Given the description of an element on the screen output the (x, y) to click on. 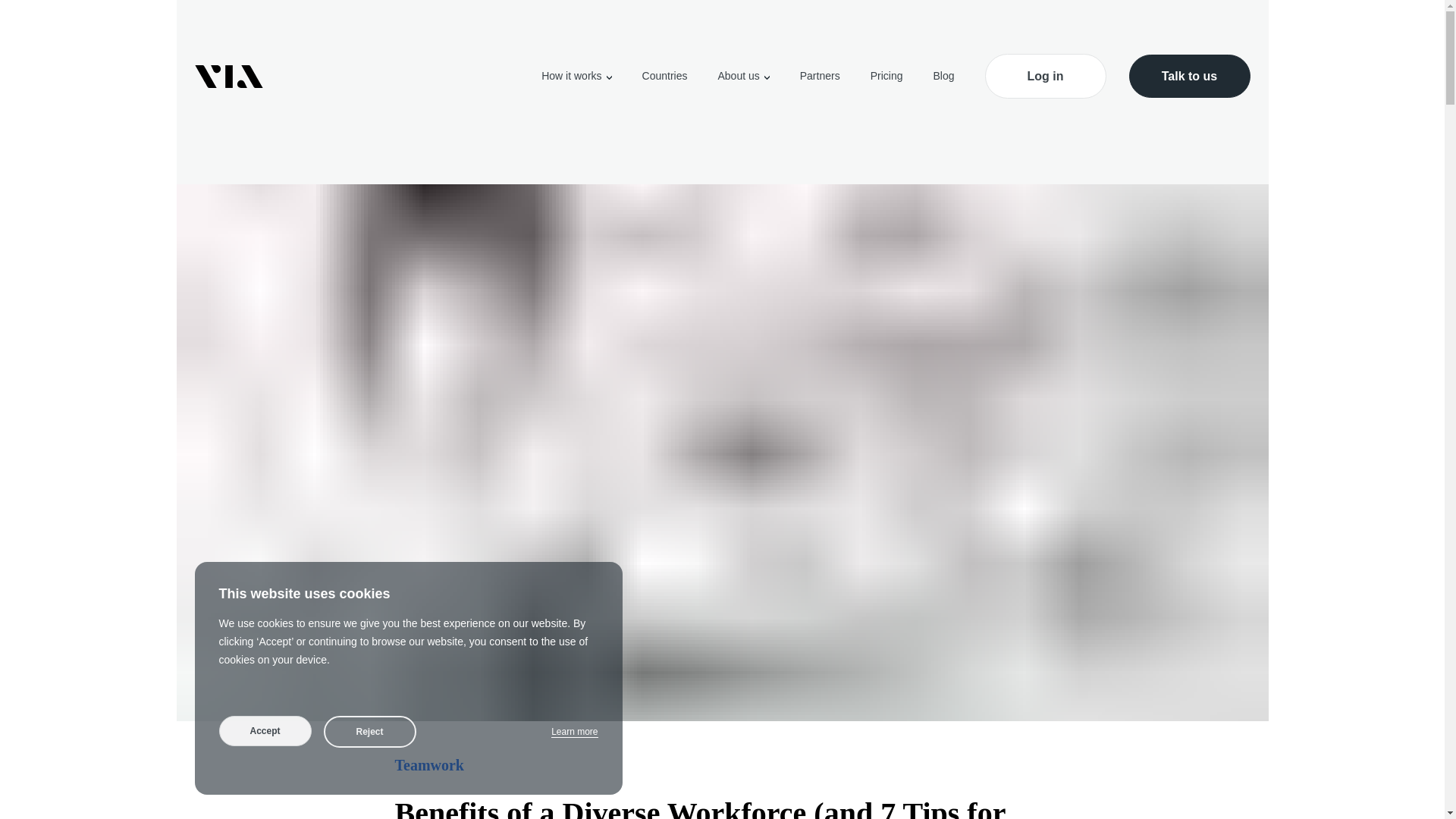
Pricing (886, 75)
Blog (943, 75)
Log in (1044, 76)
Reject (368, 731)
Learn more (573, 731)
Partners (819, 75)
Talk to us (1188, 75)
Countries (664, 75)
Accept (264, 730)
